Given the description of an element on the screen output the (x, y) to click on. 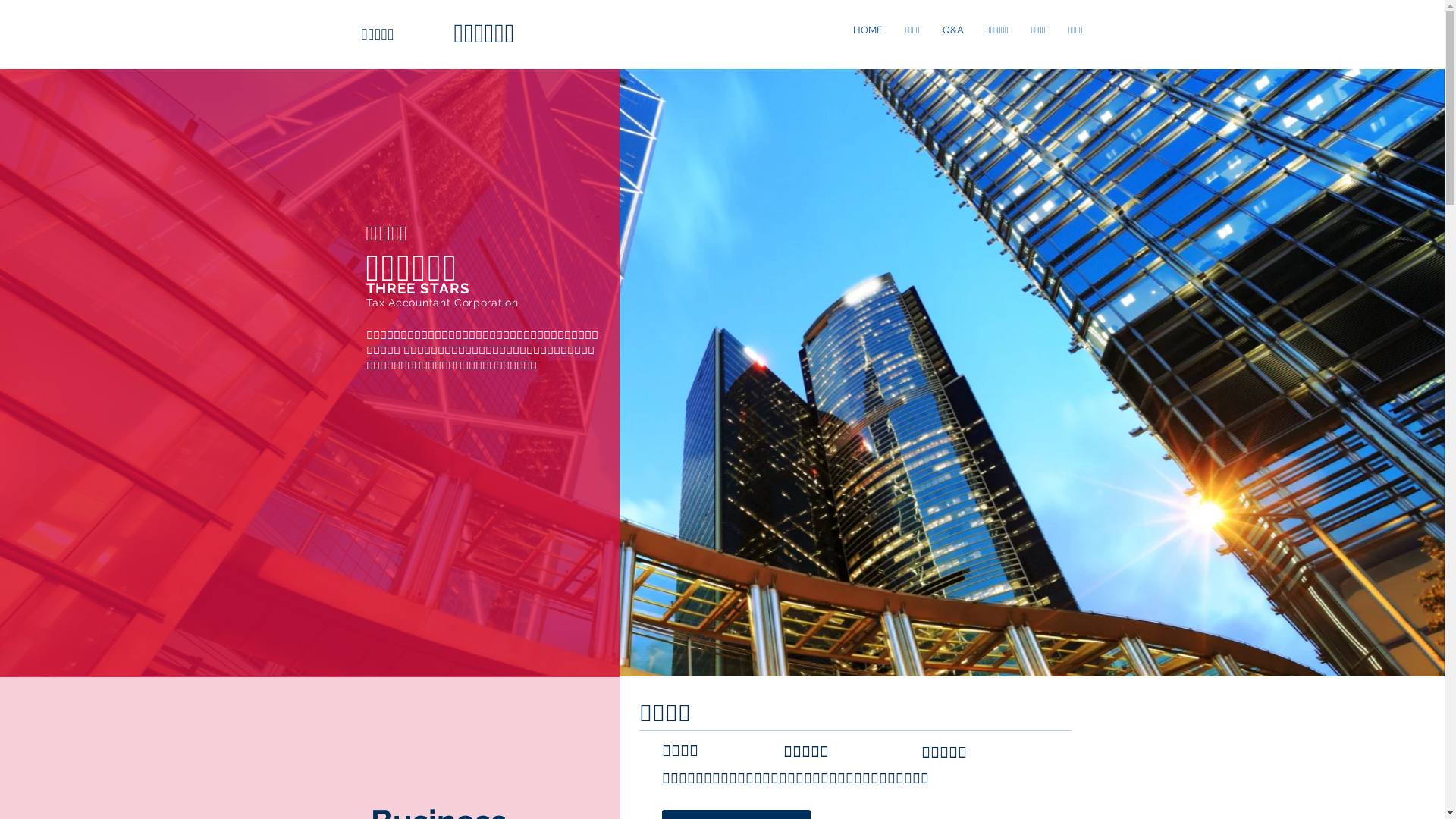
Q&A Element type: text (953, 29)
HOME Element type: text (867, 29)
